Given the description of an element on the screen output the (x, y) to click on. 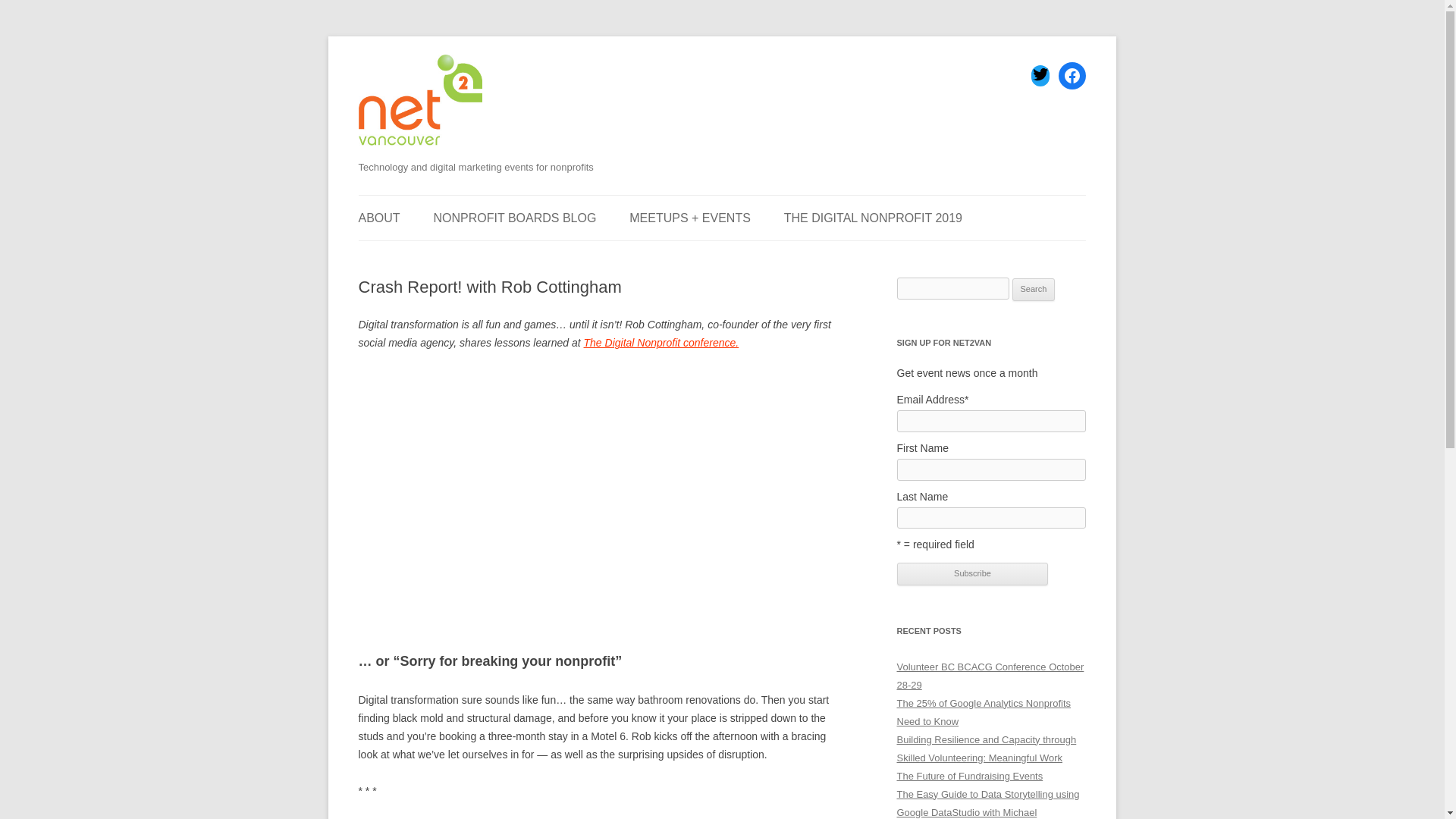
Search (1033, 289)
NONPROFIT BOARDS BLOG (514, 217)
The Digital Nonprofit conference. (661, 342)
SUGGEST AN EVENT (433, 255)
Search (1033, 289)
Subscribe (972, 573)
Volunteer BC BCACG Conference October 28-29 (989, 675)
THE DIGITAL NONPROFIT 2019 (873, 217)
Facebook (1072, 75)
The Future of Fundraising Events (969, 776)
ABOUT (378, 217)
